Given the description of an element on the screen output the (x, y) to click on. 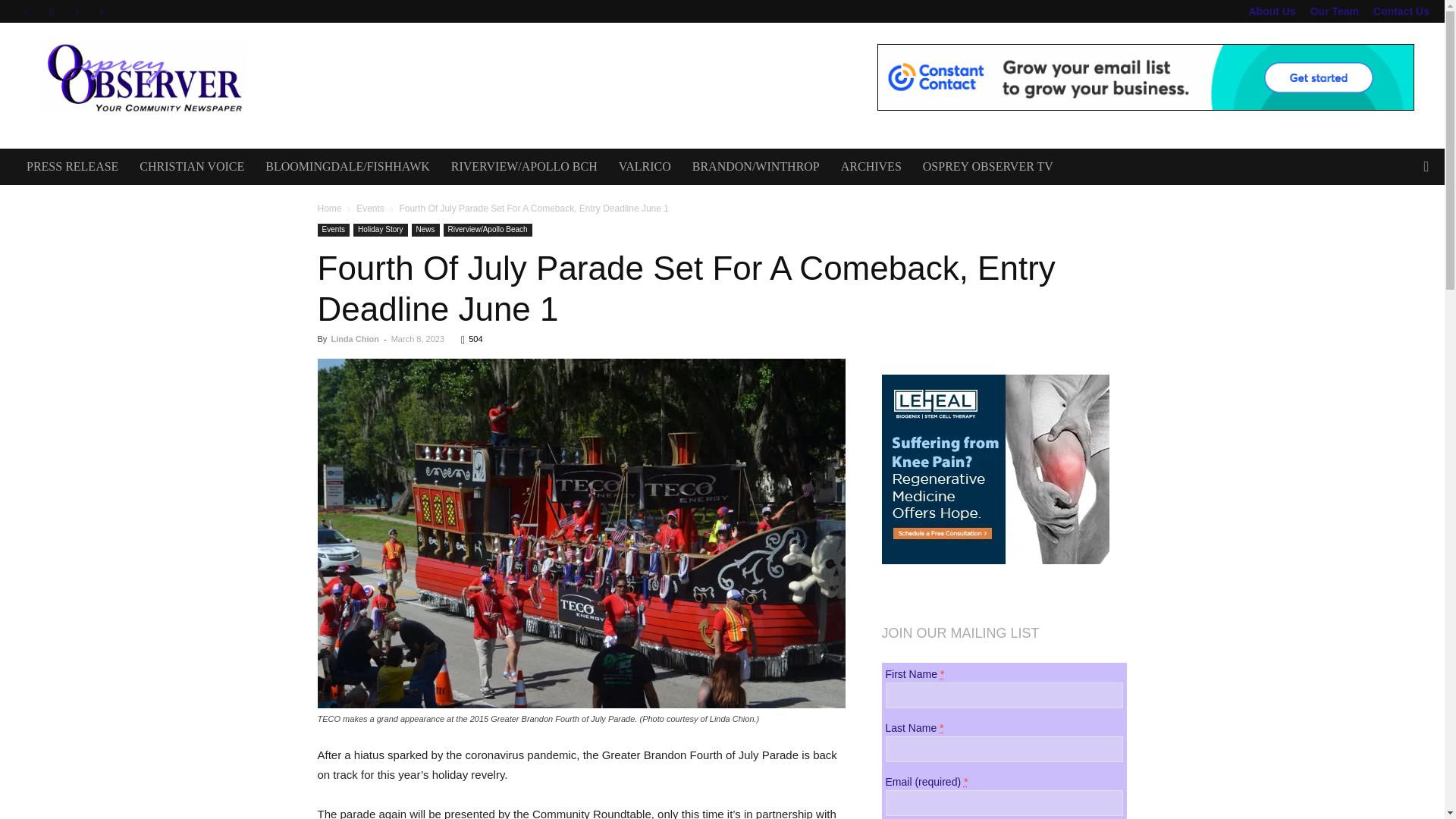
Our Team (1334, 10)
View all posts in Events (370, 208)
Instagram (51, 11)
Youtube (101, 11)
Twitter (76, 11)
About Us (1271, 10)
Facebook (25, 11)
